Given the description of an element on the screen output the (x, y) to click on. 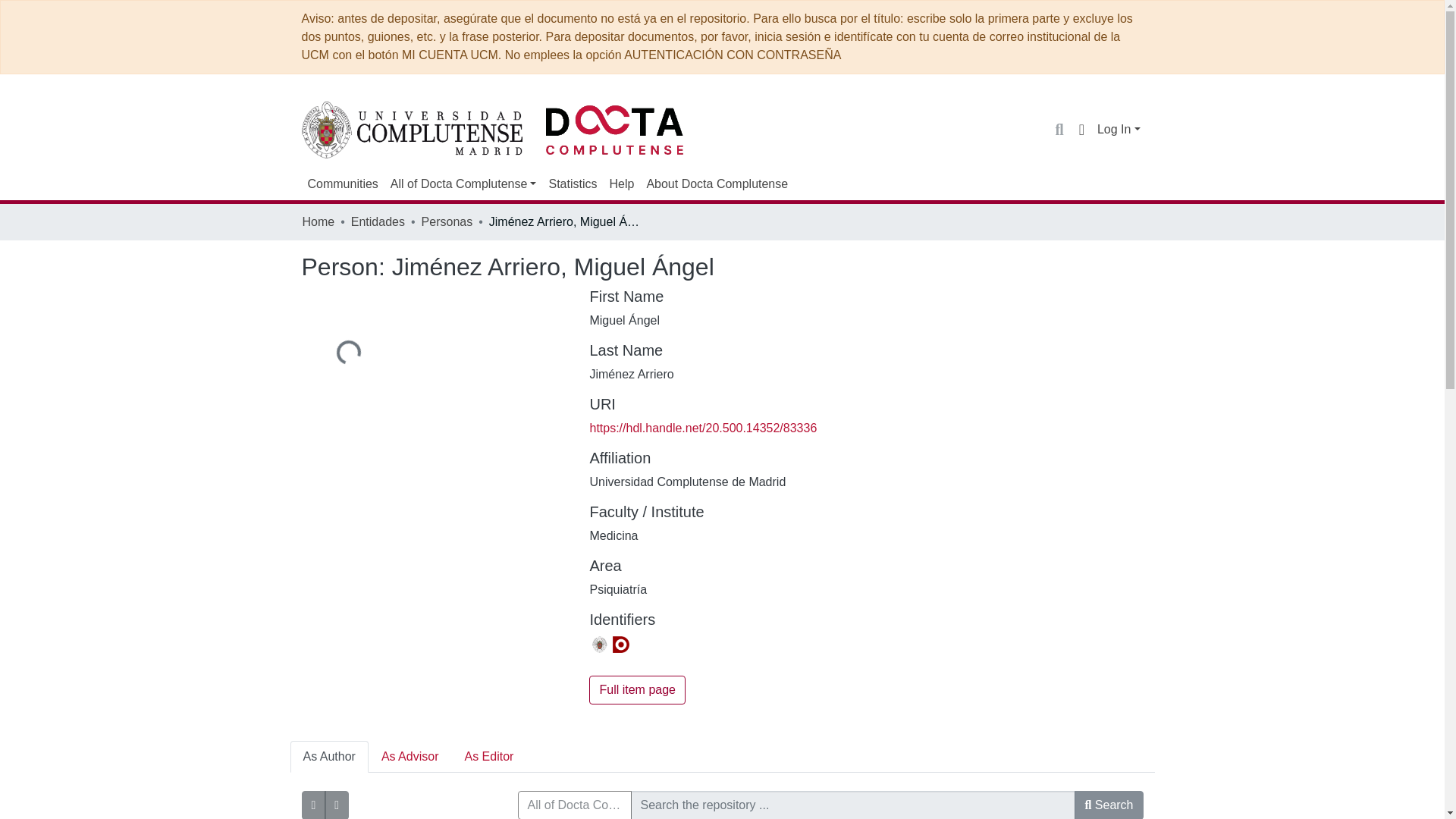
UCM identifier (599, 644)
Dialnet ID (620, 644)
Language switch (1081, 129)
Home (317, 221)
Statistics (571, 183)
Statistics (571, 183)
Search (1058, 129)
Communities (342, 183)
All of Docta Complutense (463, 183)
Full item page (637, 689)
As Editor (488, 757)
About Docta Complutense (716, 183)
Help (621, 183)
Help (621, 183)
Entidades (377, 221)
